Given the description of an element on the screen output the (x, y) to click on. 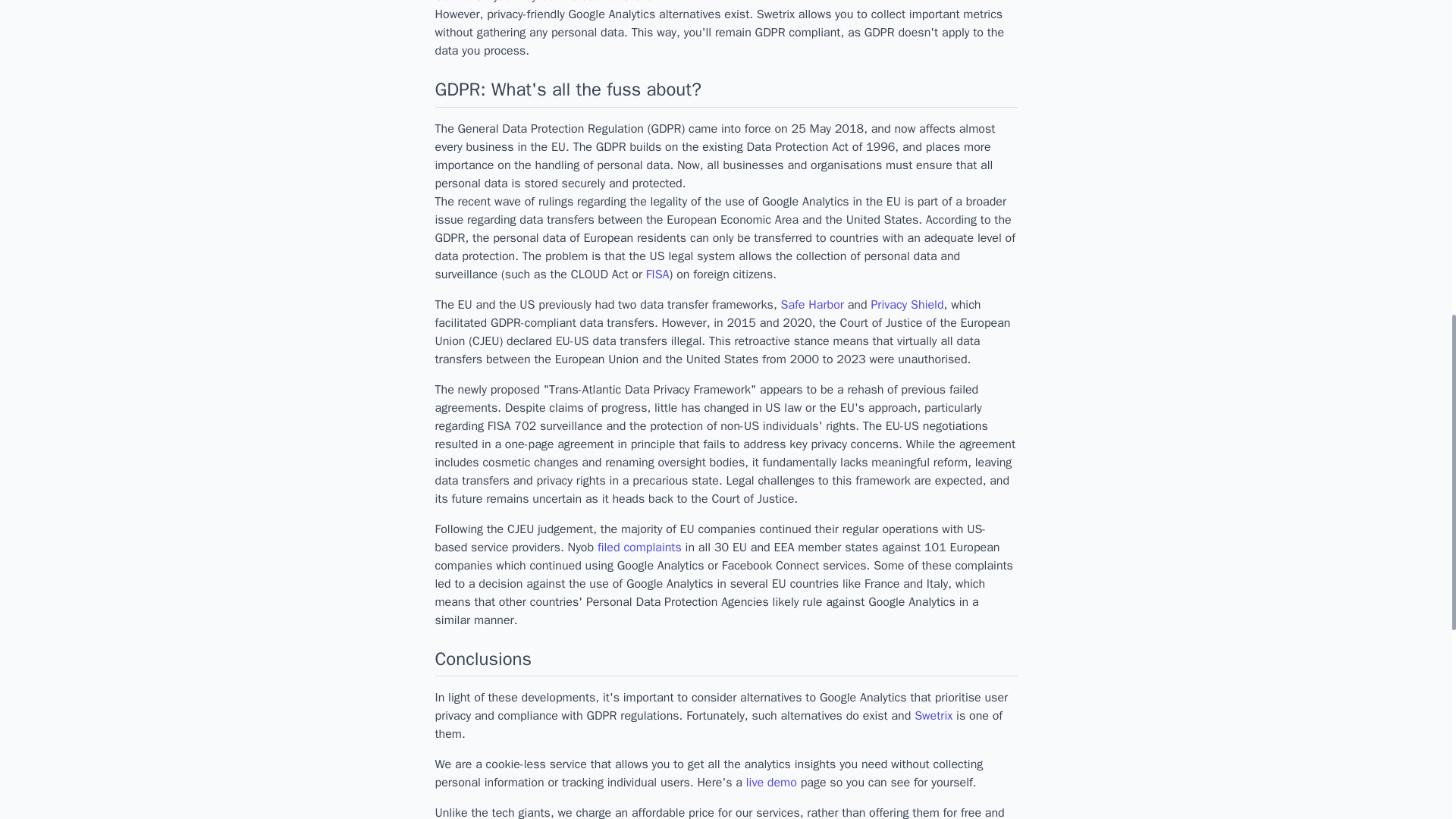
live demo (770, 782)
Swetrix (933, 715)
Privacy Shield (906, 304)
FISA (657, 273)
filed complaints (638, 547)
Safe Harbor (812, 304)
